Given the description of an element on the screen output the (x, y) to click on. 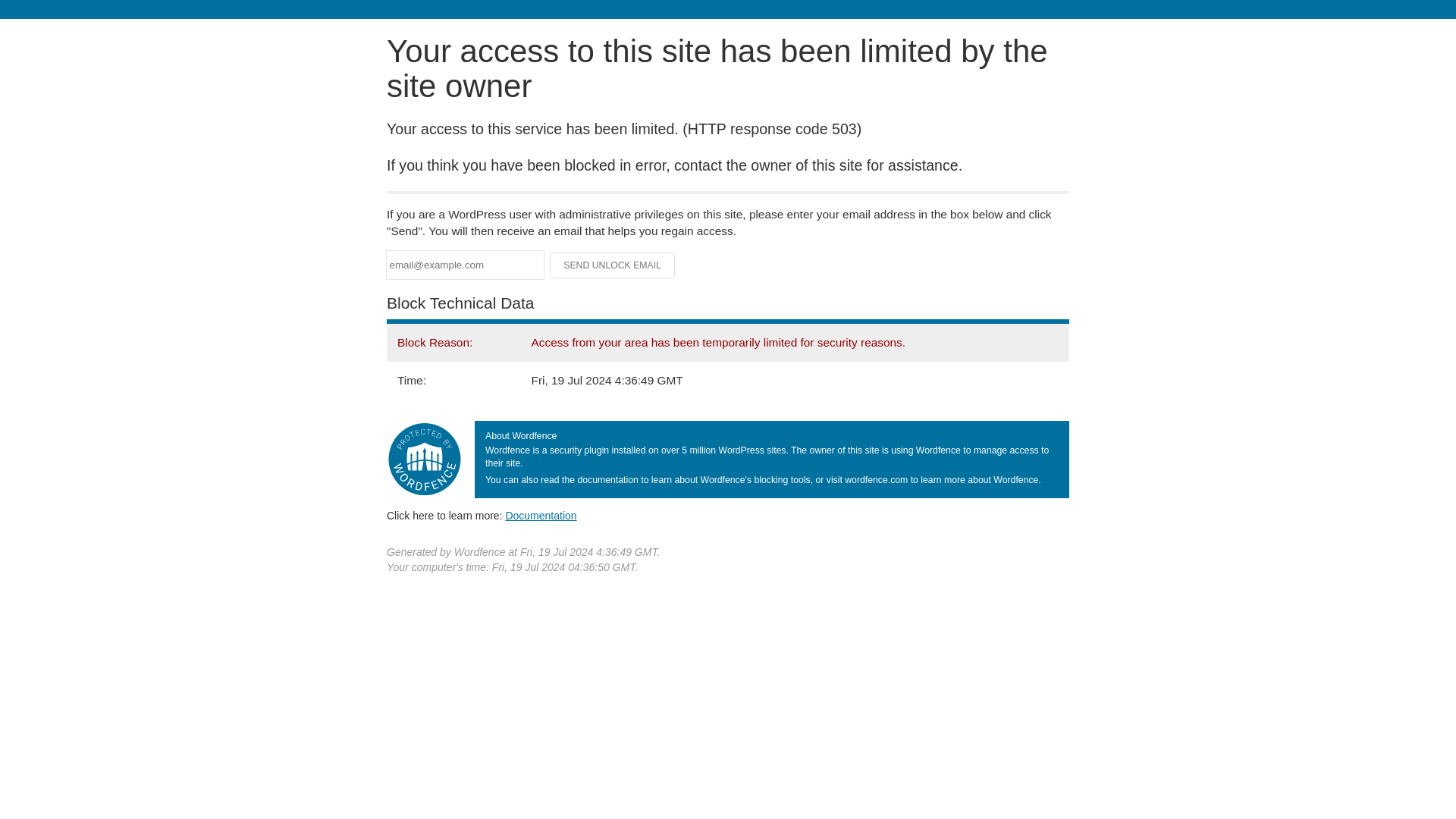
Send Unlock Email (612, 265)
Documentation (540, 515)
Send Unlock Email (612, 265)
